Given the description of an element on the screen output the (x, y) to click on. 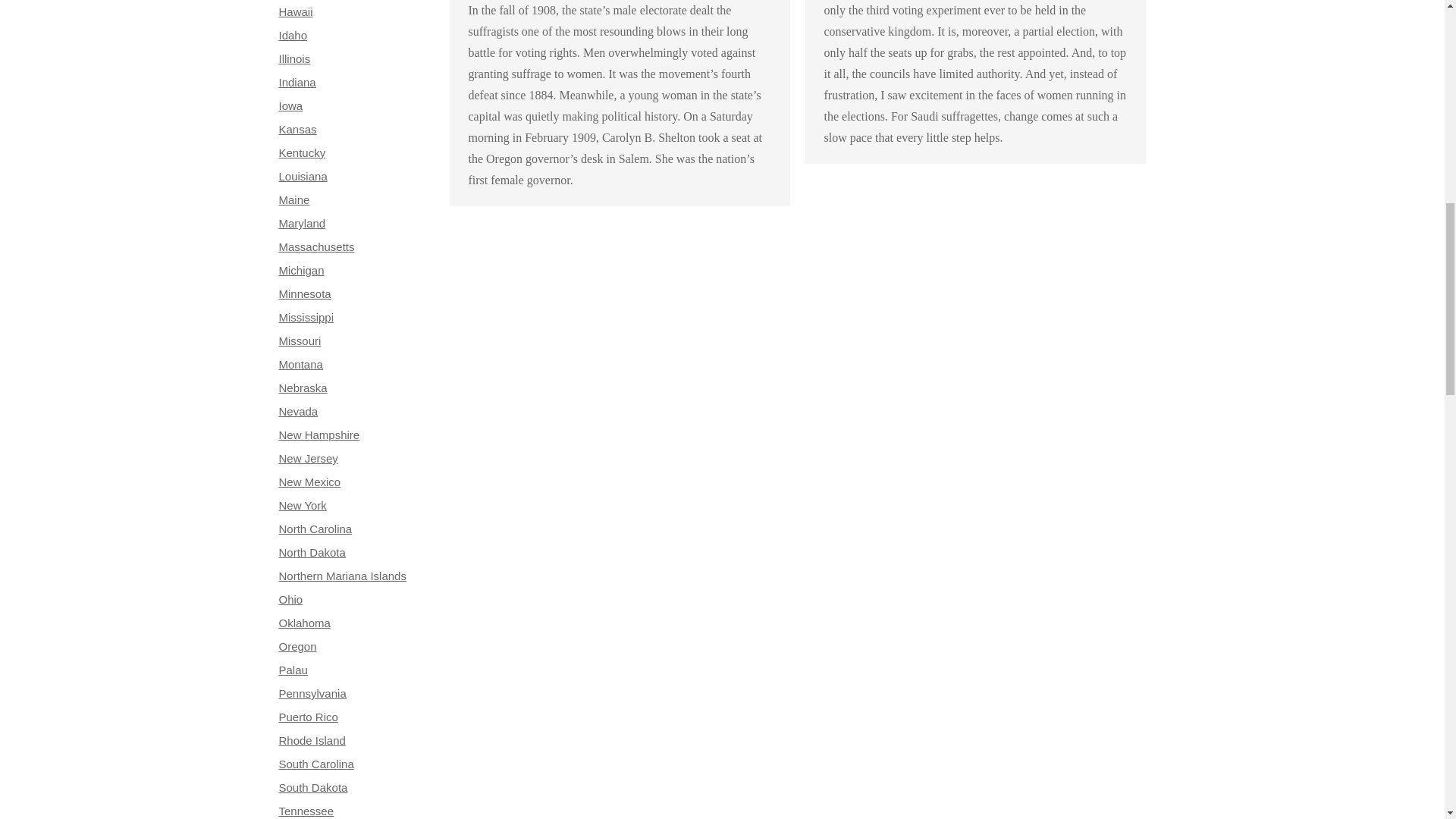
Hawaii (296, 11)
Iowa (290, 105)
Idaho (293, 34)
Illinois (295, 58)
Indiana (297, 82)
